Given the description of an element on the screen output the (x, y) to click on. 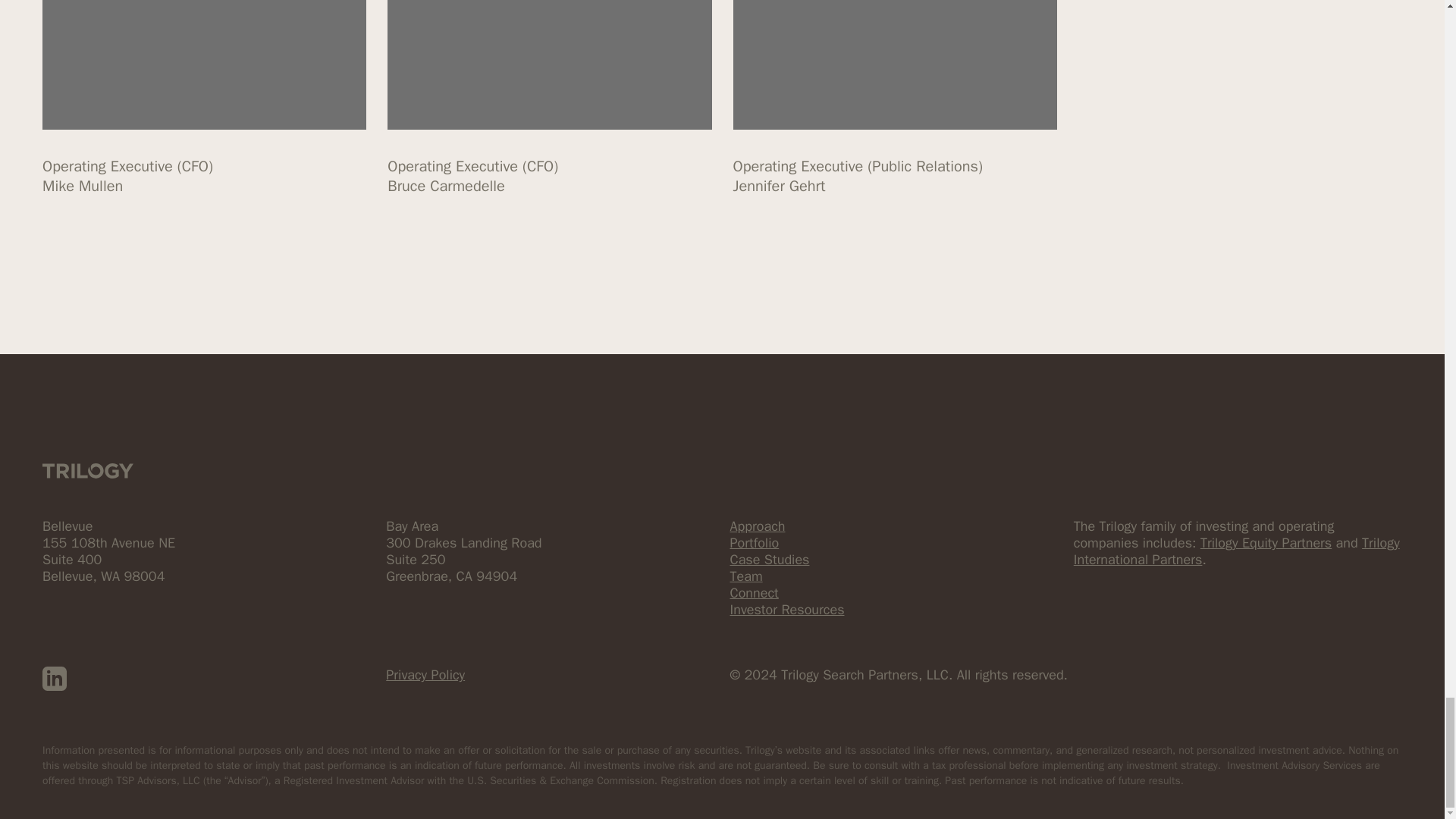
Portfolio (753, 542)
Approach (756, 525)
Team (745, 576)
Case Studies (769, 559)
